Given the description of an element on the screen output the (x, y) to click on. 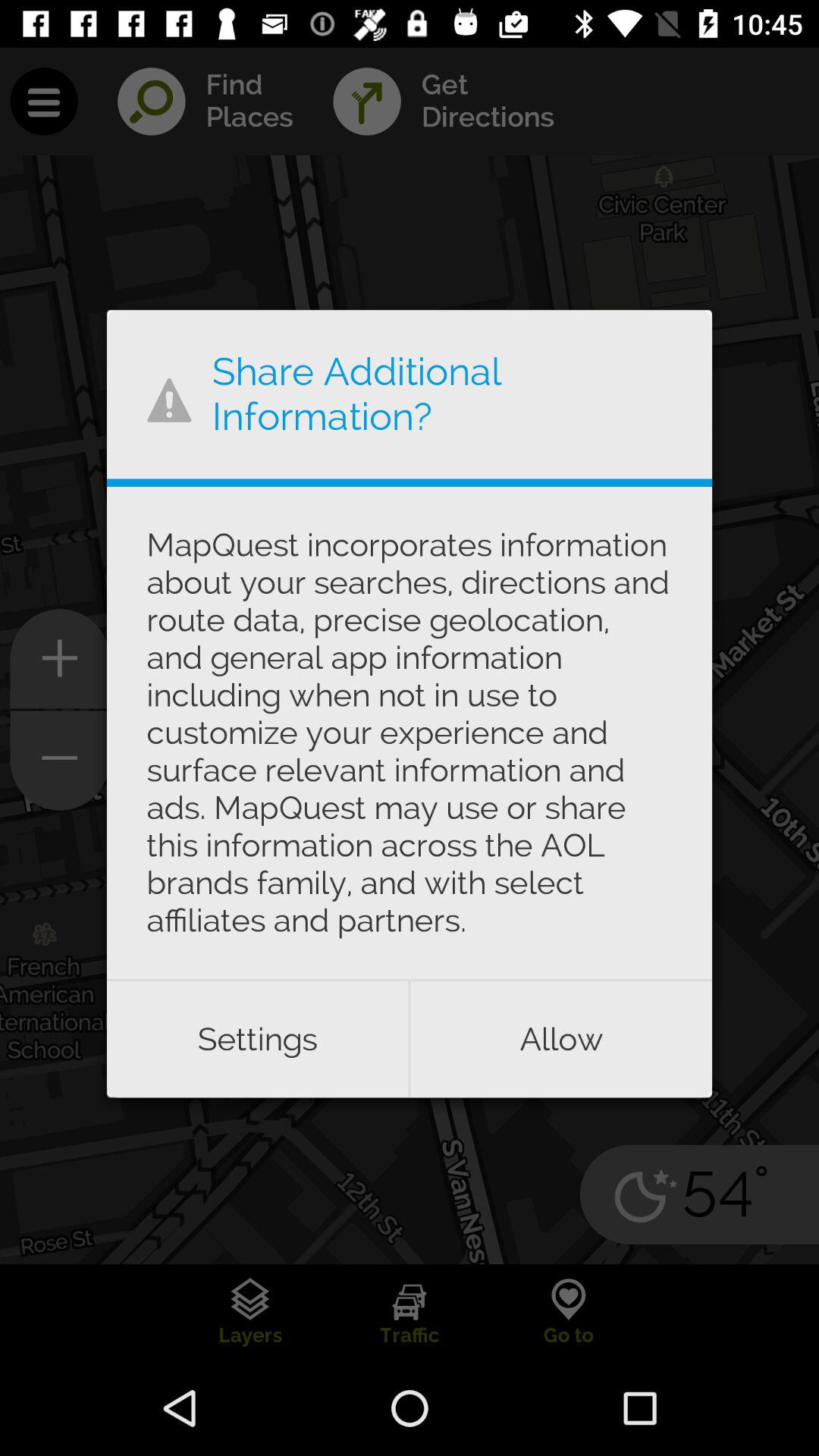
choose icon at the bottom left corner (257, 1039)
